Given the description of an element on the screen output the (x, y) to click on. 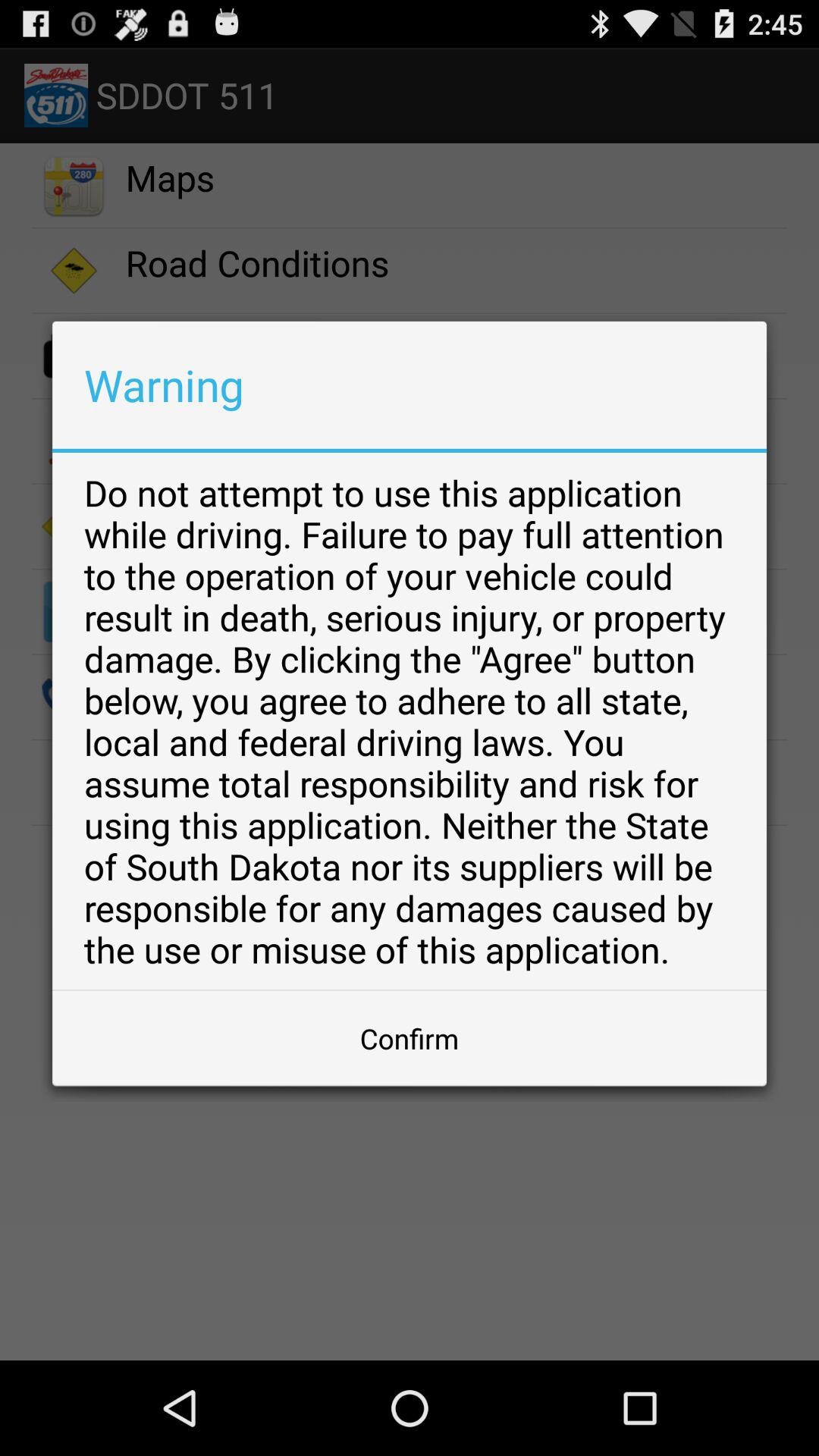
tap the button at the bottom (409, 1038)
